Given the description of an element on the screen output the (x, y) to click on. 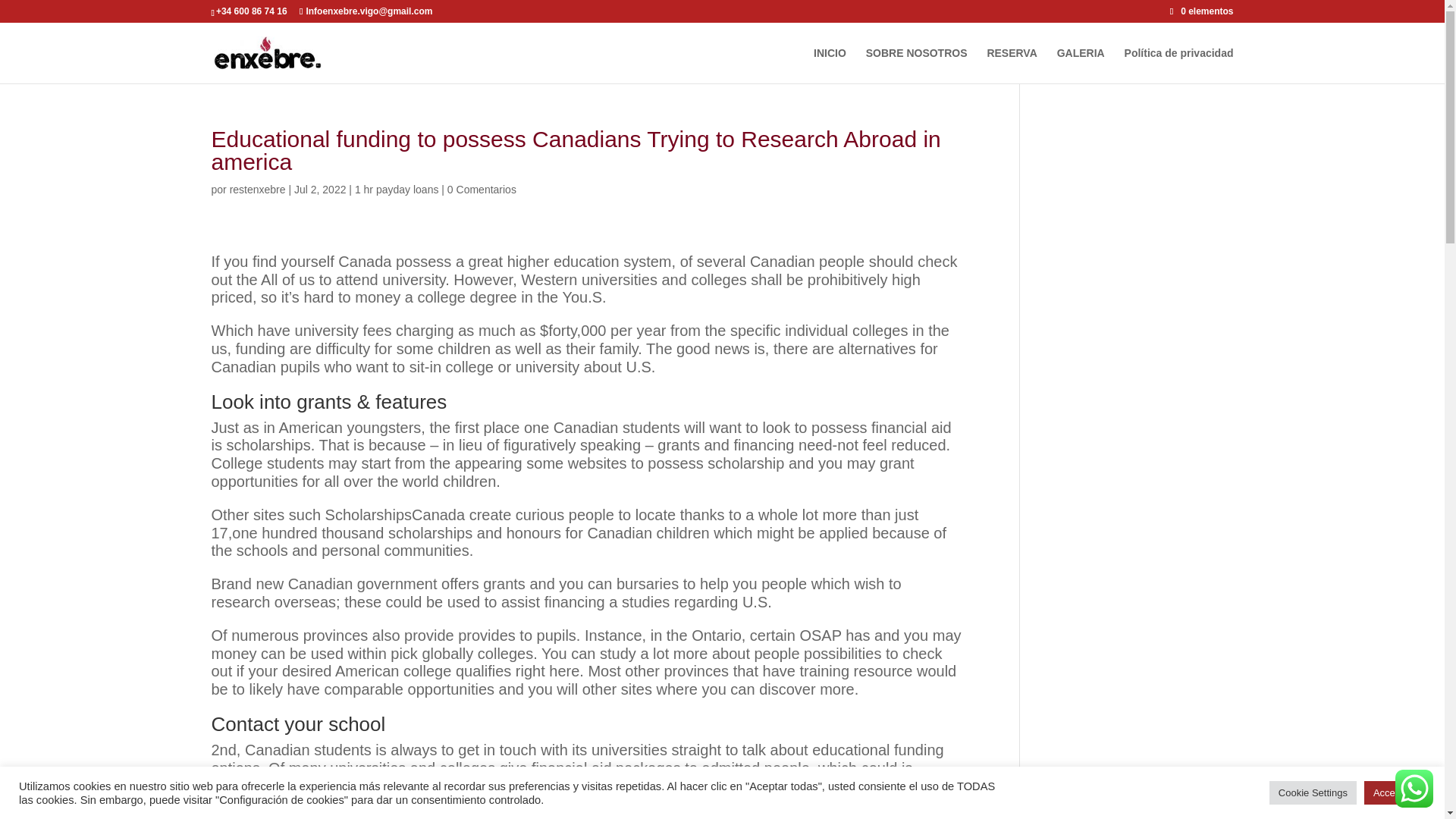
INICIO (829, 65)
restenxebre (257, 189)
1 hr payday loans (397, 189)
Accept All (1394, 792)
GALERIA (1081, 65)
0 Comentarios (481, 189)
SOBRE NOSOTROS (917, 65)
Mensajes de restenxebre (257, 189)
Cookie Settings (1312, 792)
0 elementos (1201, 10)
RESERVA (1011, 65)
